Given the description of an element on the screen output the (x, y) to click on. 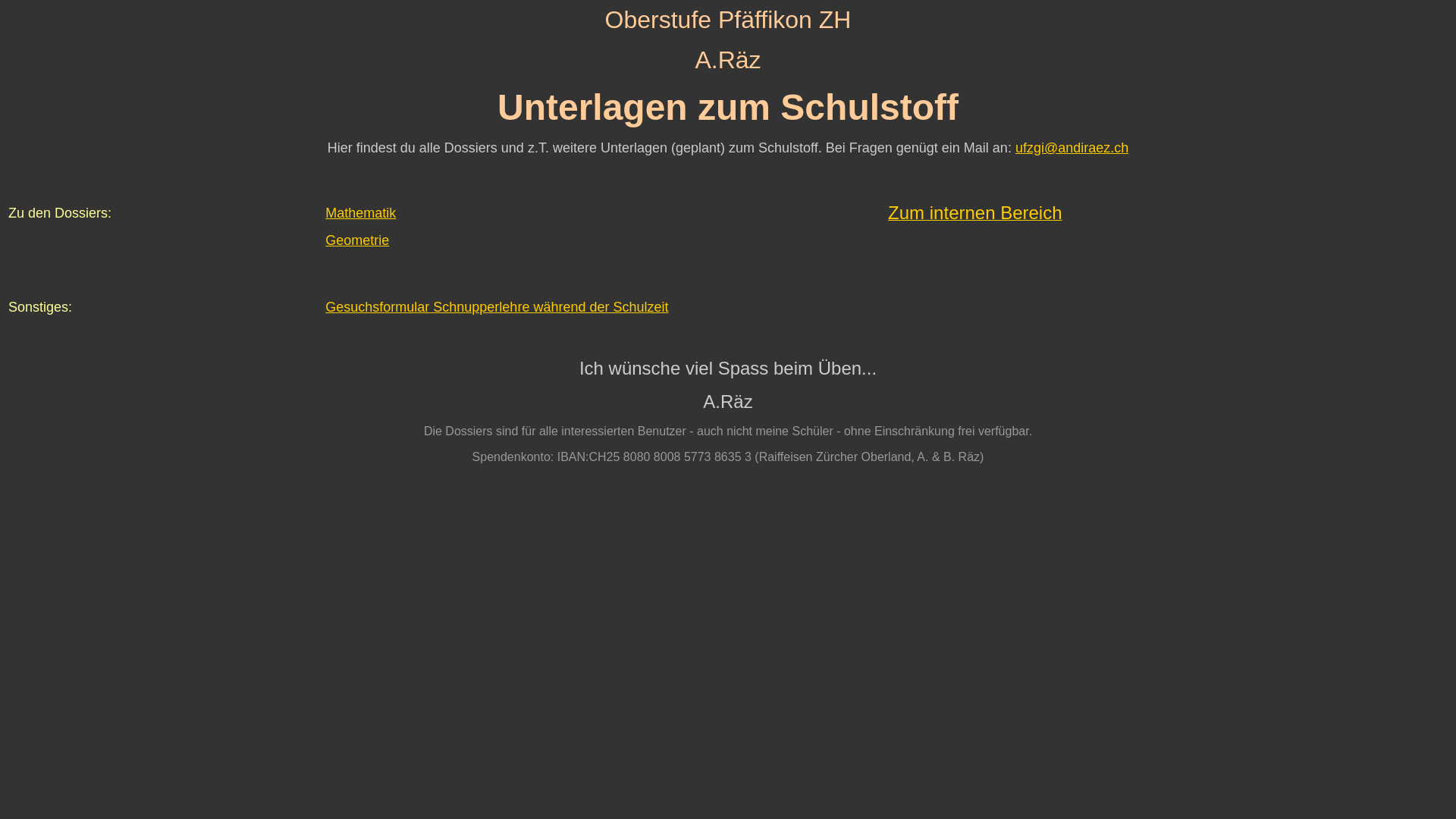
Geometrie Element type: text (357, 239)
ufzgi@andiraez.ch Element type: text (1071, 147)
Mathematik Element type: text (360, 211)
Zum internen Bereich Element type: text (974, 214)
